Given the description of an element on the screen output the (x, y) to click on. 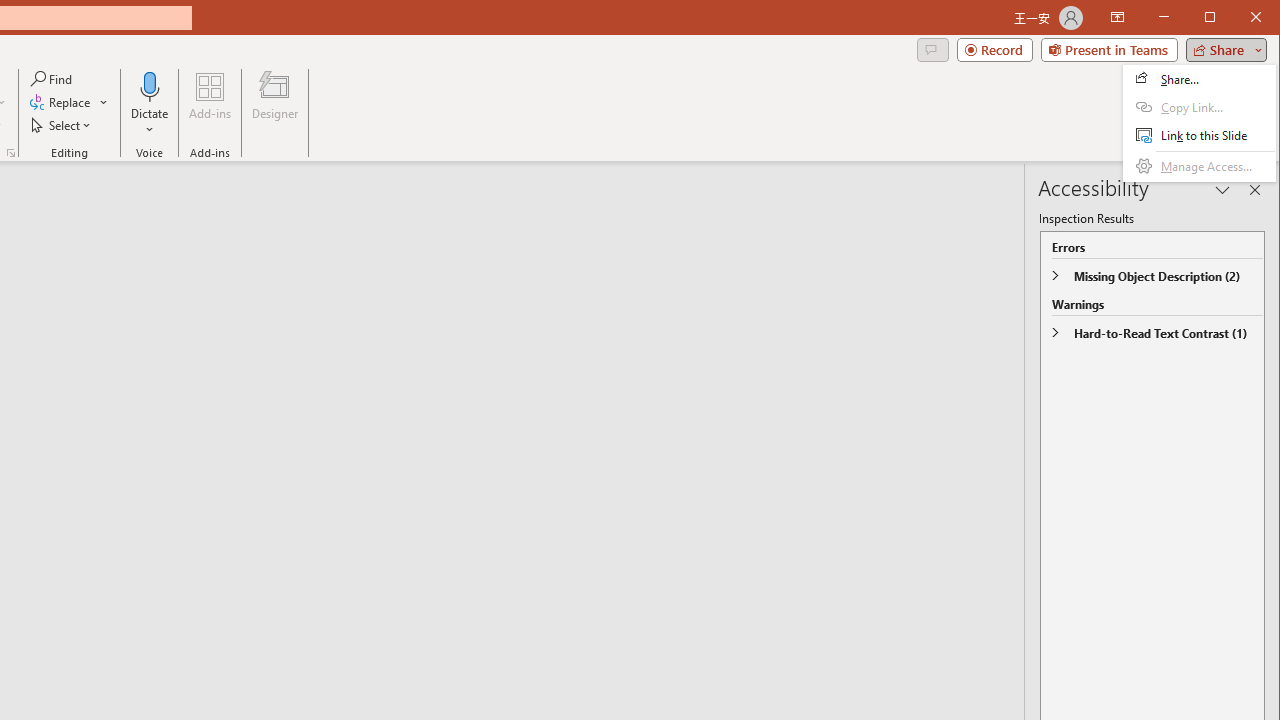
Maximize (1238, 18)
Format Object... (10, 152)
